Given the description of an element on the screen output the (x, y) to click on. 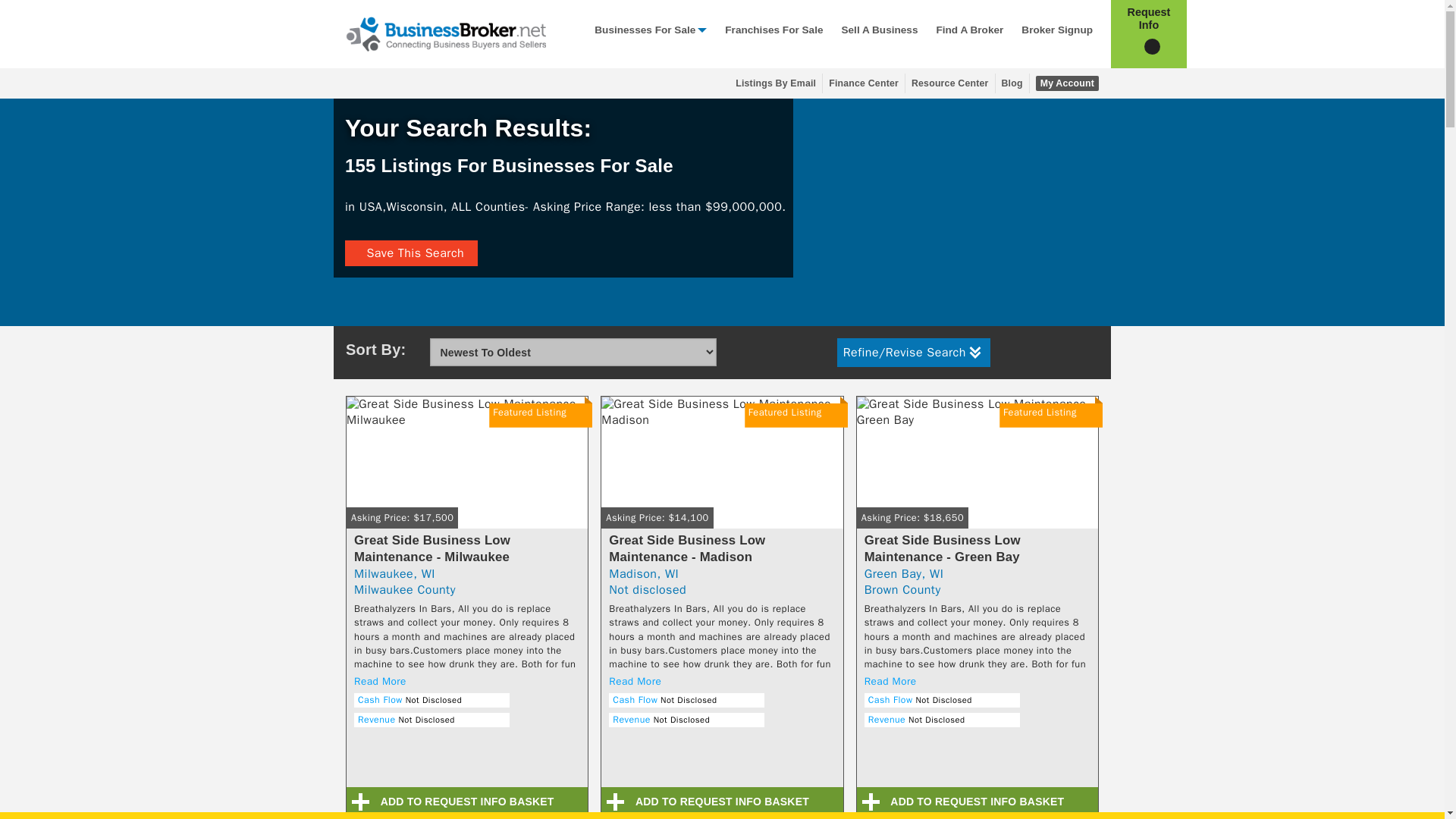
Great Side Business Low Maintenance - Madison   (722, 469)
Find A Broker (969, 32)
Sell A Business (879, 32)
Great Side Business Low Maintenance - Green Bay   (977, 469)
Franchises For Sale (773, 32)
Broker Signup (1057, 32)
Great Side Business Low Maintenance - Milwaukee (467, 469)
